Given the description of an element on the screen output the (x, y) to click on. 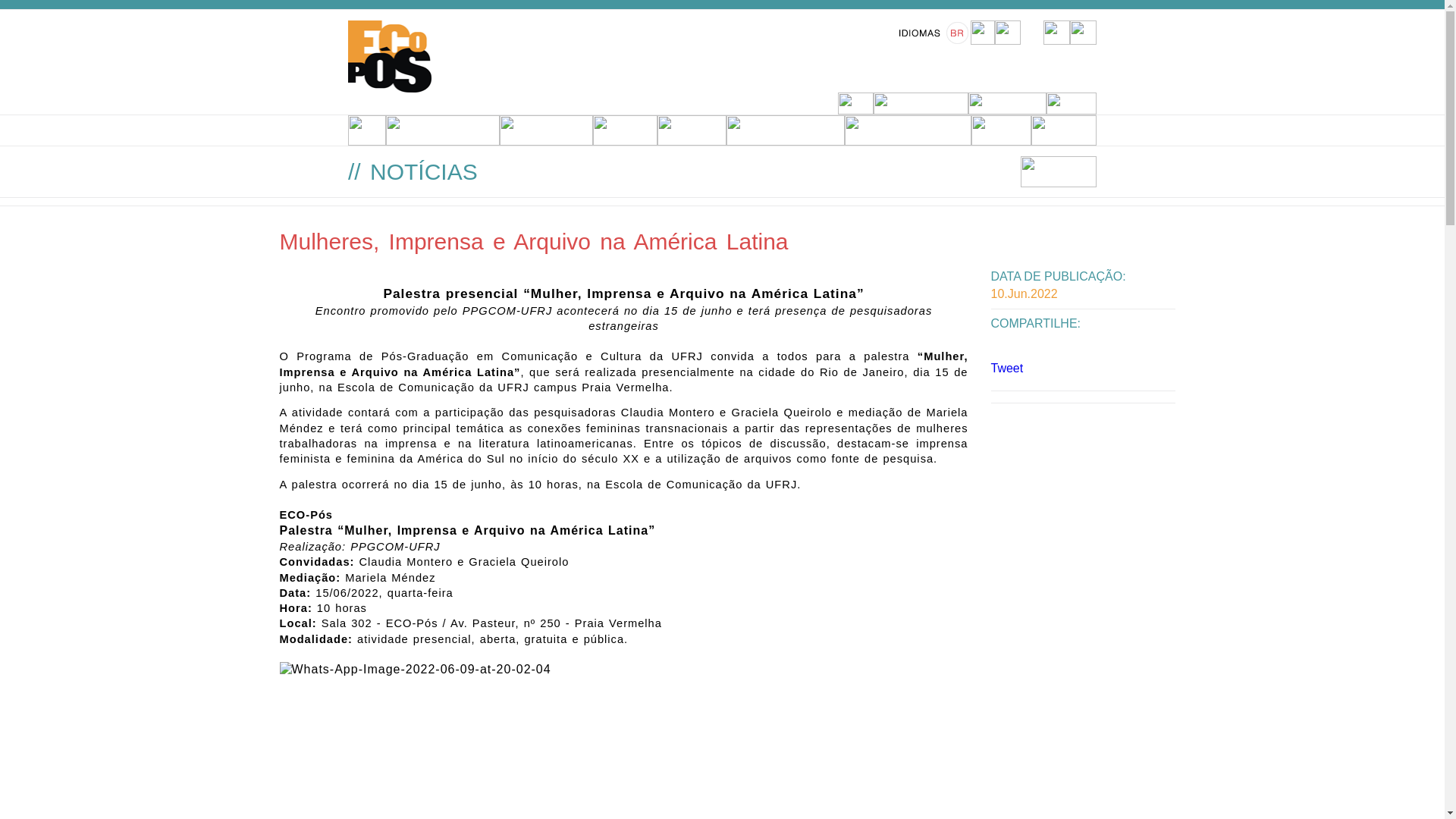
Tweet Element type: text (1006, 367)
